Given the description of an element on the screen output the (x, y) to click on. 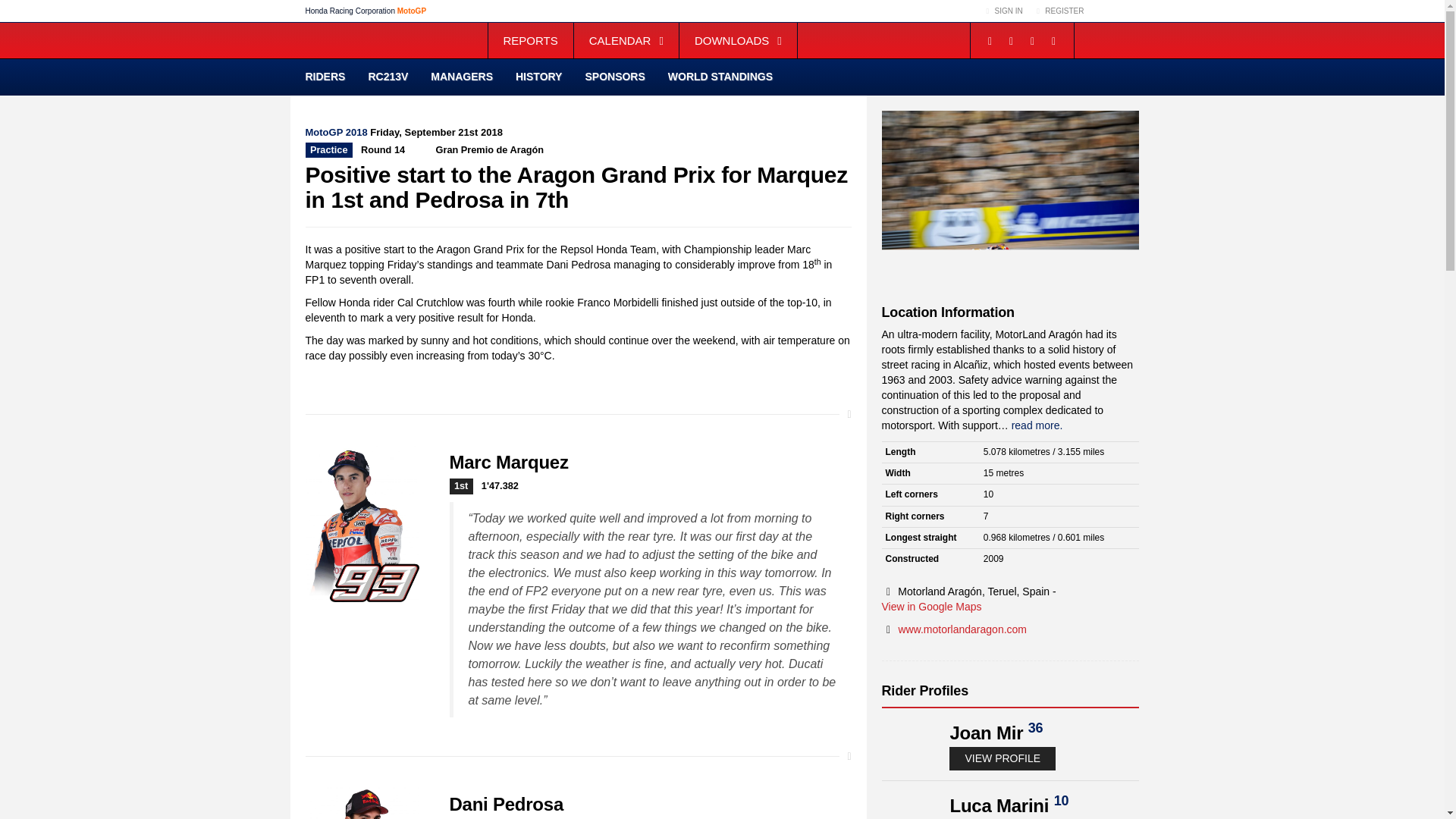
REPORTS (530, 40)
CALENDAR (625, 40)
HONDA (1117, 10)
SIGN IN (1002, 10)
MotoGP (411, 10)
Honda Racing Corporation (1114, 40)
DOWNLOADS (737, 40)
Honda Racing Corporation (350, 10)
REGISTER (1058, 10)
